Given the description of an element on the screen output the (x, y) to click on. 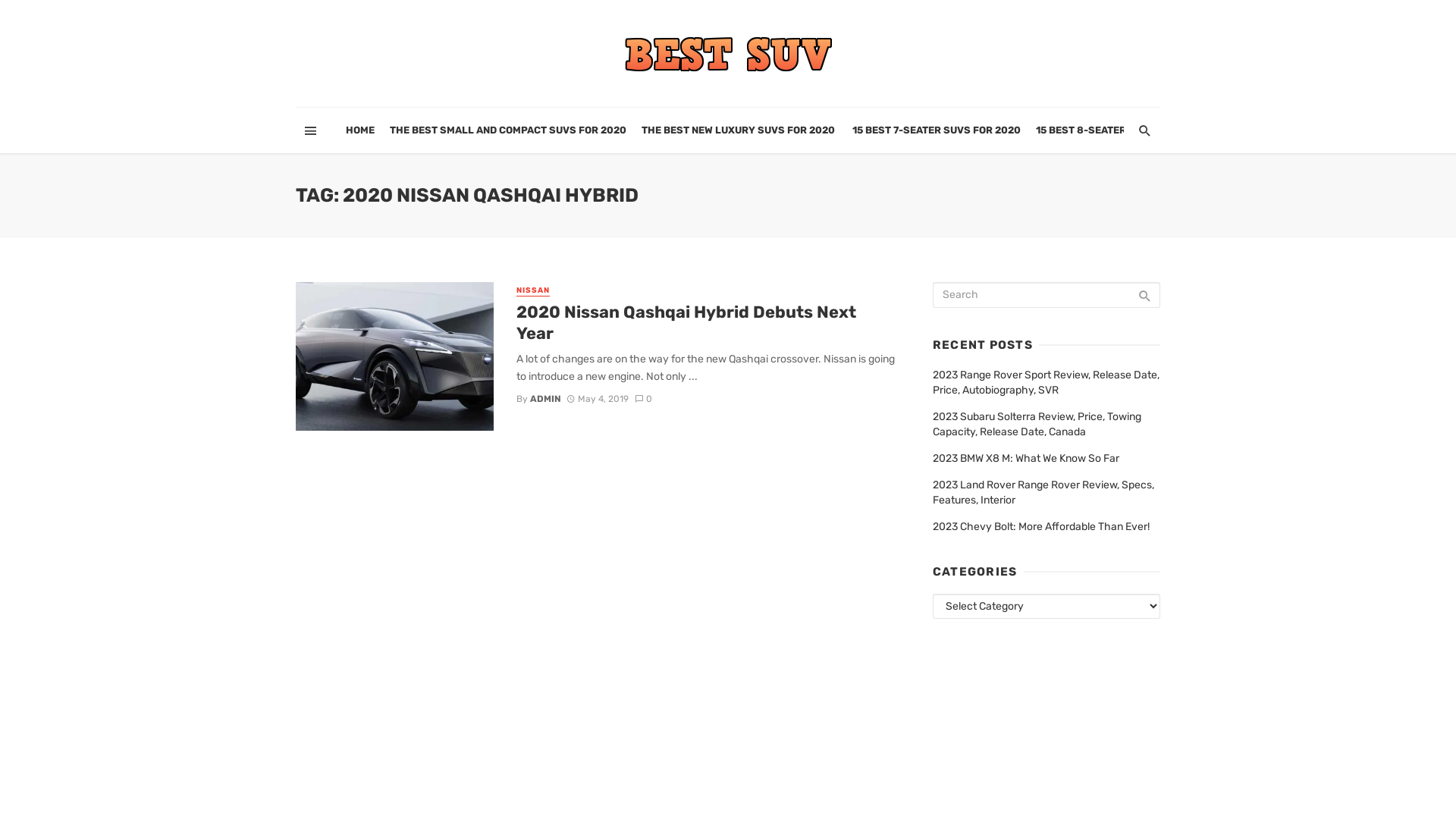
HOME Element type: text (360, 130)
THE BEST SMALL AND COMPACT SUVS FOR 2020 Element type: text (507, 130)
2023 BMW X8 M: What We Know So Far Element type: text (1025, 458)
2020 Nissan Qashqai Hybrid Debuts Next Year Element type: text (705, 323)
THE BEST NEW LUXURY SUVS FOR 2020  Element type: text (738, 130)
NISSAN Element type: text (532, 290)
15 BEST 7-SEATER SUVS FOR 2020 Element type: text (936, 130)
15 BEST 8-SEATER SUVS FOR 2020 Element type: text (1120, 130)
ADMIN Element type: text (545, 397)
2023 Chevy Bolt: More Affordable Than Ever! Element type: text (1040, 526)
0 Element type: text (643, 397)
